Given the description of an element on the screen output the (x, y) to click on. 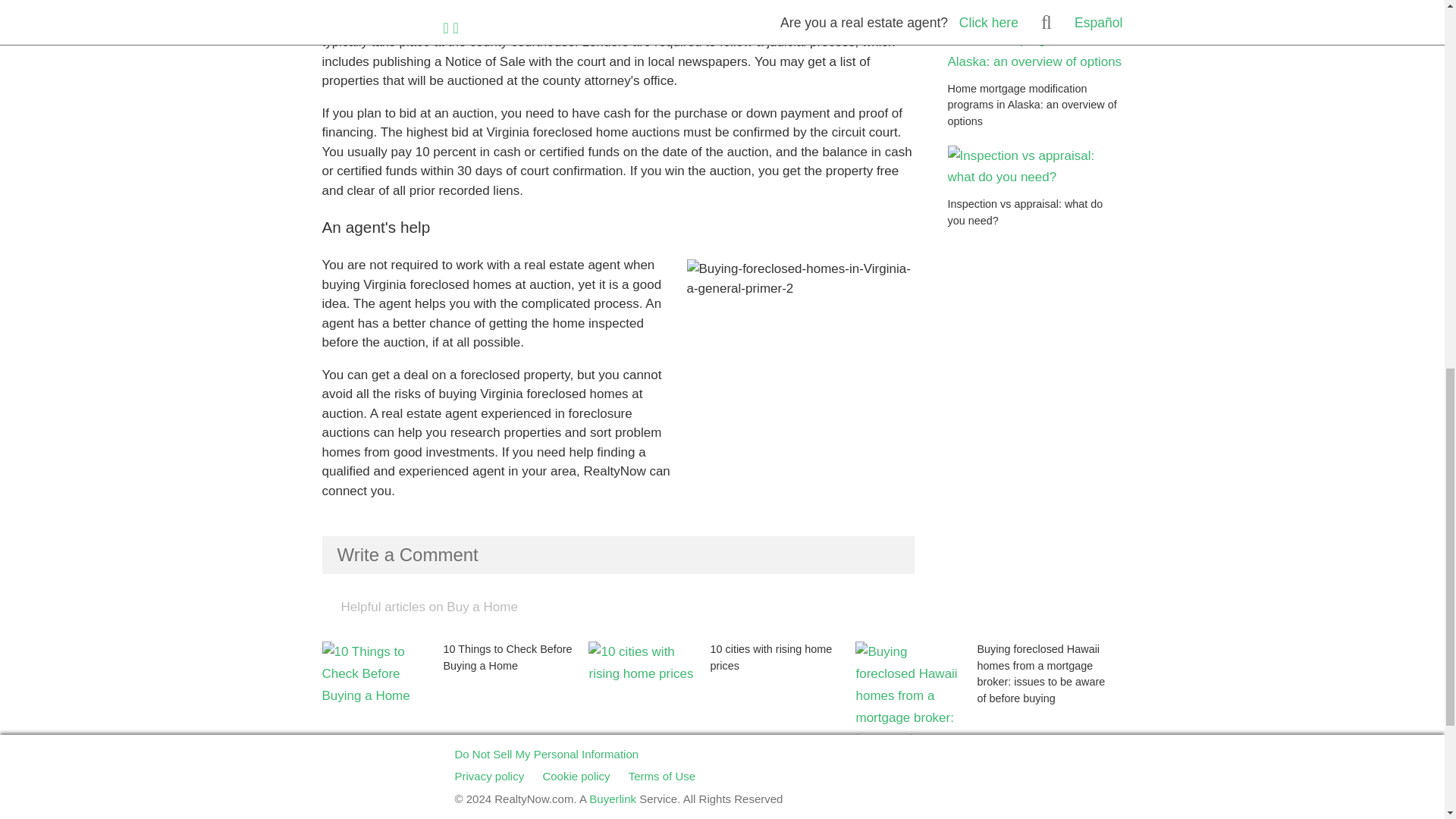
10 cities with rising home prices (722, 701)
Buying foreclosed homes in Georgia: tax issues to consider (454, 790)
Rent or buy affordable home: weighing the options (722, 790)
Inspection vs appraisal: what do you need? (1034, 194)
10 Things to Check Before Buying a Home (454, 701)
